Given the description of an element on the screen output the (x, y) to click on. 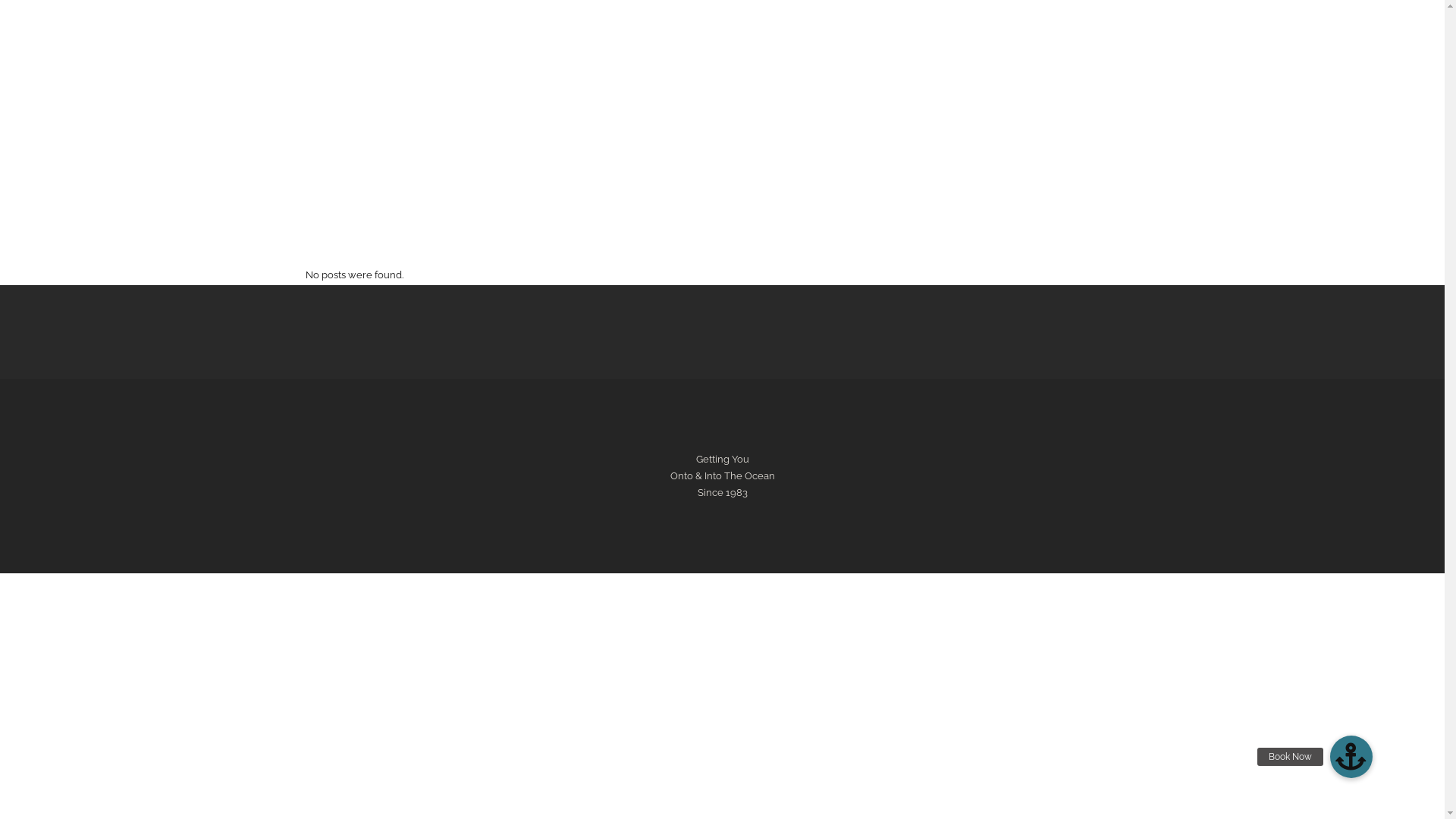
ABOUT US Element type: text (1101, 146)
BOAT FUNCTIONS Element type: text (724, 146)
CONTACT Element type: text (1038, 146)
LAKE HILLIER Element type: text (640, 146)
ISLAND CRUISE Element type: text (399, 146)
FISHING CHARTER Element type: text (815, 146)
Book Now Element type: text (1351, 756)
BOOK ONLINE Element type: text (479, 146)
GIFT VOUCHERS Element type: text (904, 146)
GALLERY Element type: text (977, 146)
HOME Element type: text (333, 146)
